Given the description of an element on the screen output the (x, y) to click on. 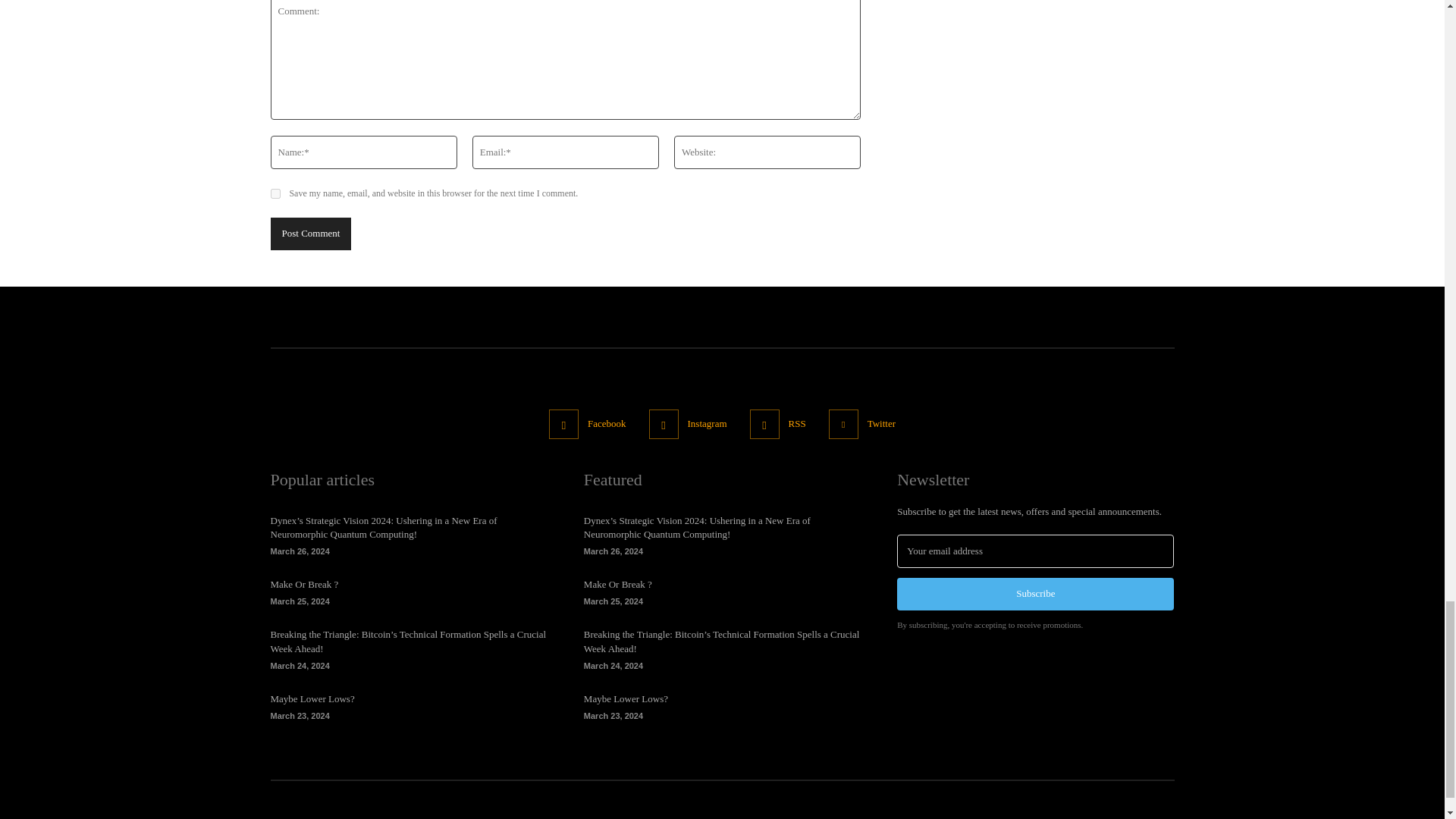
Post Comment (309, 233)
yes (274, 194)
